Given the description of an element on the screen output the (x, y) to click on. 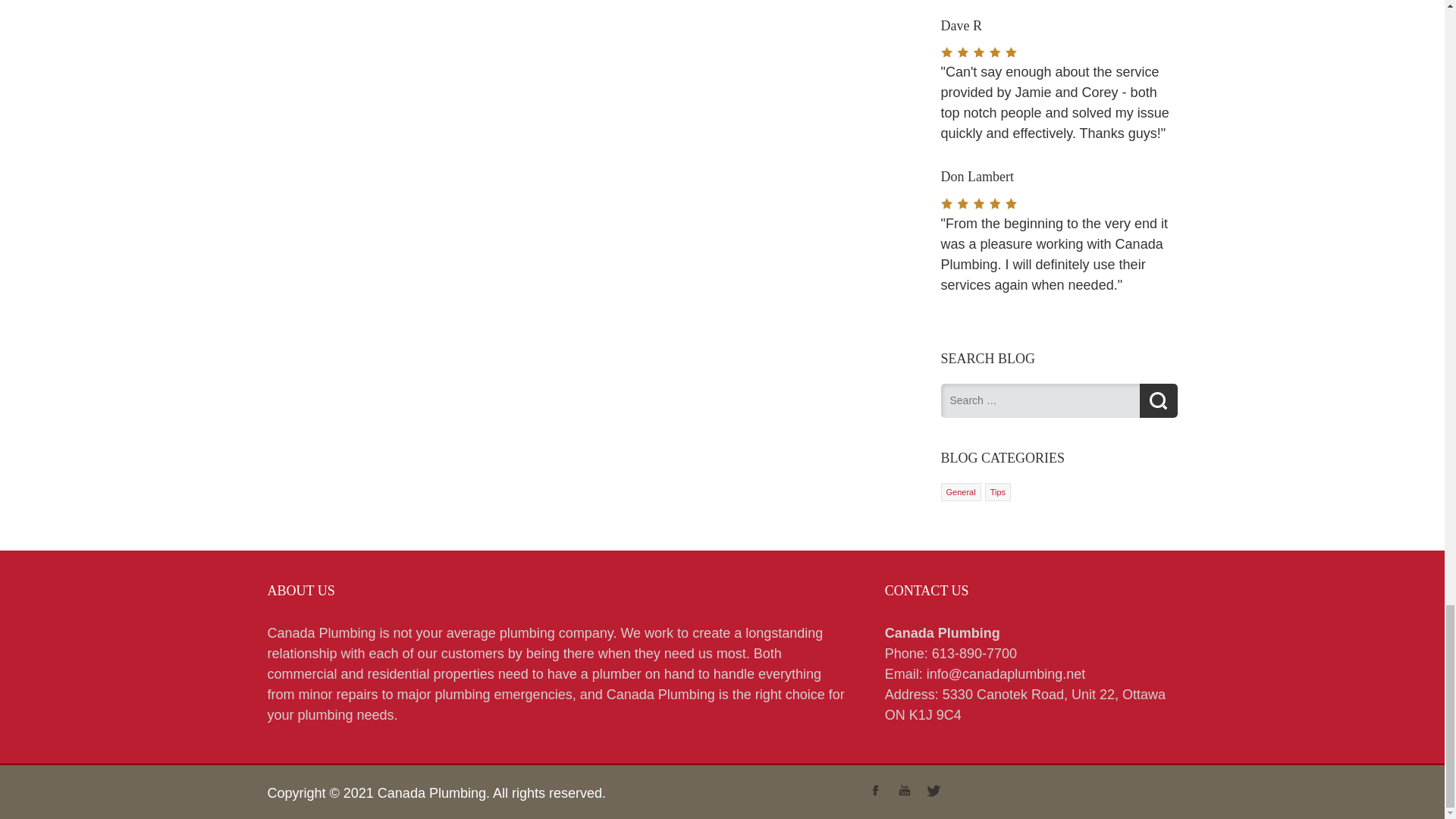
Search (1157, 400)
General (960, 491)
Search for: (1039, 400)
Search (1157, 400)
Tips (998, 491)
Search (1157, 400)
